Given the description of an element on the screen output the (x, y) to click on. 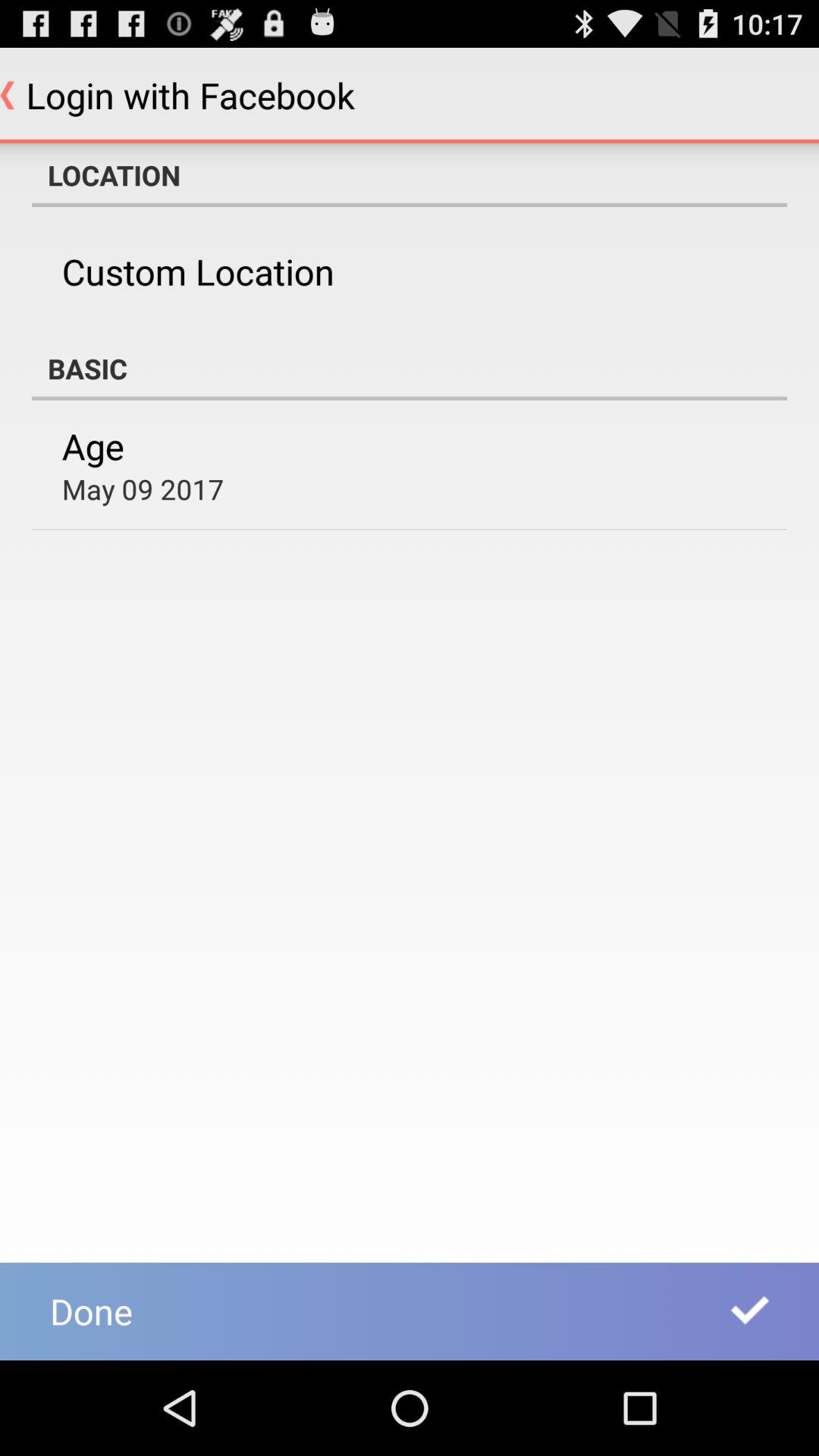
choose the basic item (409, 368)
